Given the description of an element on the screen output the (x, y) to click on. 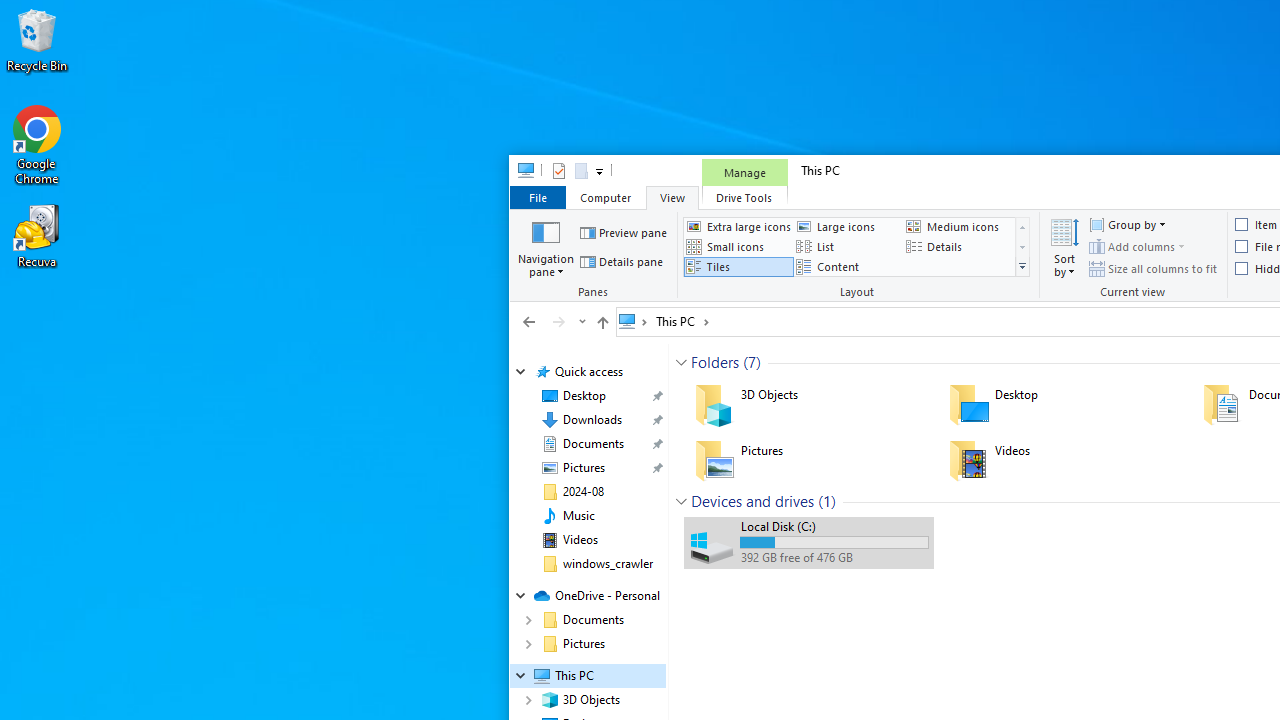
Row down (1022, 247)
Back to Local Disk (C:) (Alt + Left Arrow) (529, 321)
Size all columns to fit (1153, 268)
Tiles (738, 267)
Navigation pane (546, 246)
3D Objects (808, 403)
Sort by (1064, 246)
Desktop (1062, 403)
Local Disk (C:) (808, 542)
Videos (1062, 460)
Row up (1022, 227)
Details pane (621, 261)
Medium icons (958, 226)
Quick access (588, 371)
